Given the description of an element on the screen output the (x, y) to click on. 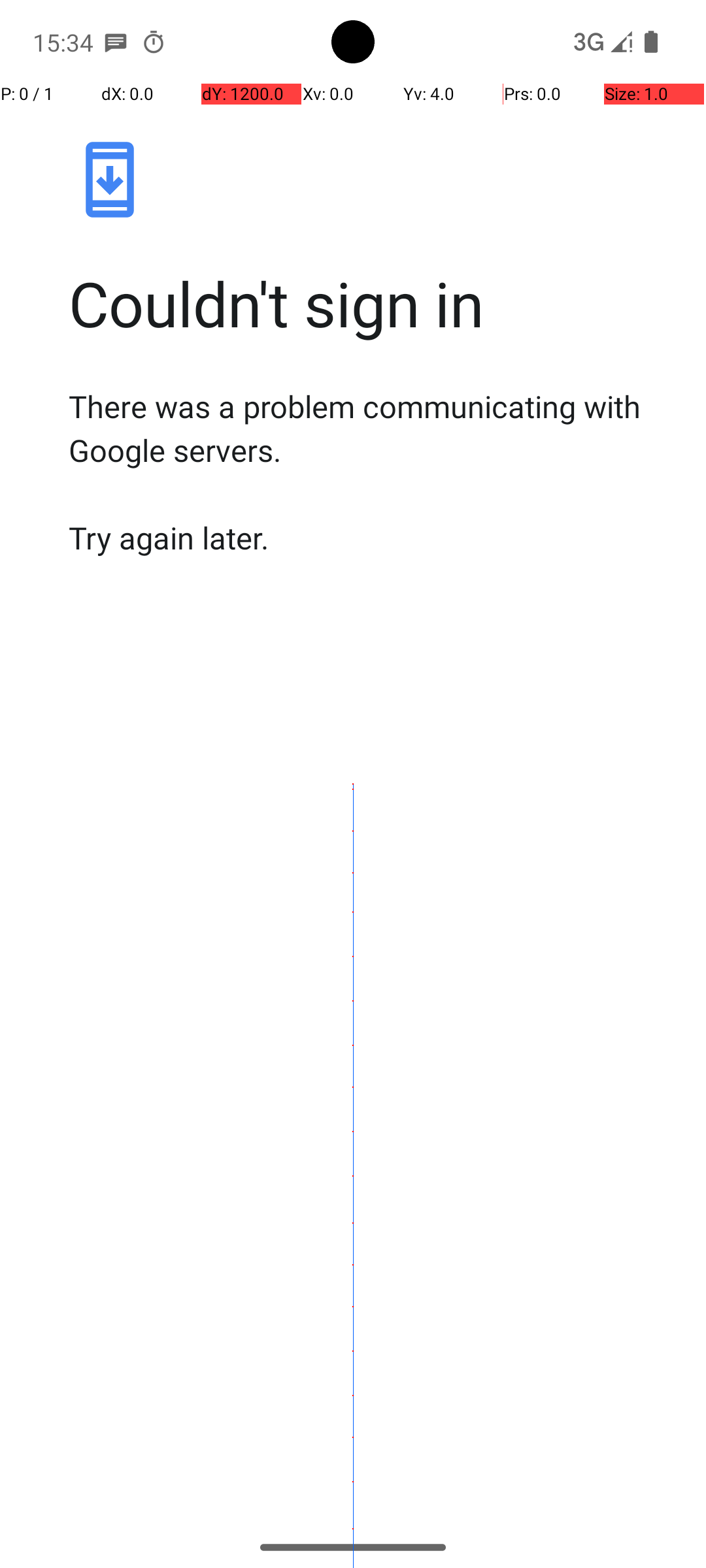
Couldn't sign in Element type: android.widget.TextView (366, 302)
There was a problem communicating with Google servers. 

Try again later. Element type: android.widget.TextView (366, 471)
